Given the description of an element on the screen output the (x, y) to click on. 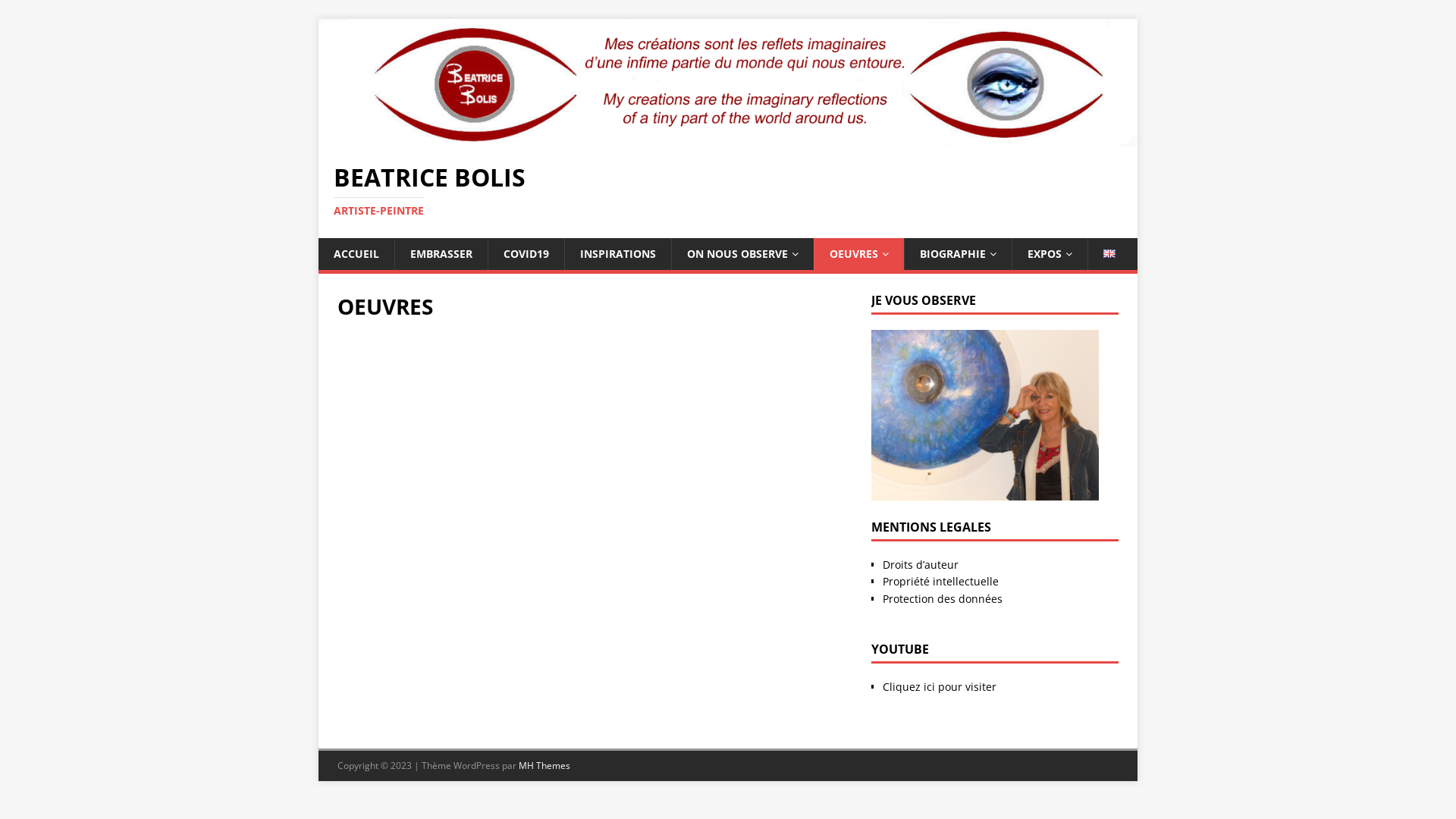
COVID19 Element type: text (525, 253)
Cliquez ici pour visiter Element type: text (939, 686)
EMBRASSER Element type: text (440, 253)
Beatrice Bolis Element type: hover (727, 136)
MH Themes Element type: text (544, 765)
ACCUEIL Element type: text (356, 253)
BIOGRAPHIE Element type: text (957, 253)
ON NOUS OBSERVE Element type: text (742, 253)
INSPIRATIONS Element type: text (617, 253)
BEATRICE BOLIS
ARTISTE-PEINTRE Element type: text (727, 191)
EXPOS Element type: text (1049, 253)
OEUVRES Element type: text (858, 253)
